Given the description of an element on the screen output the (x, y) to click on. 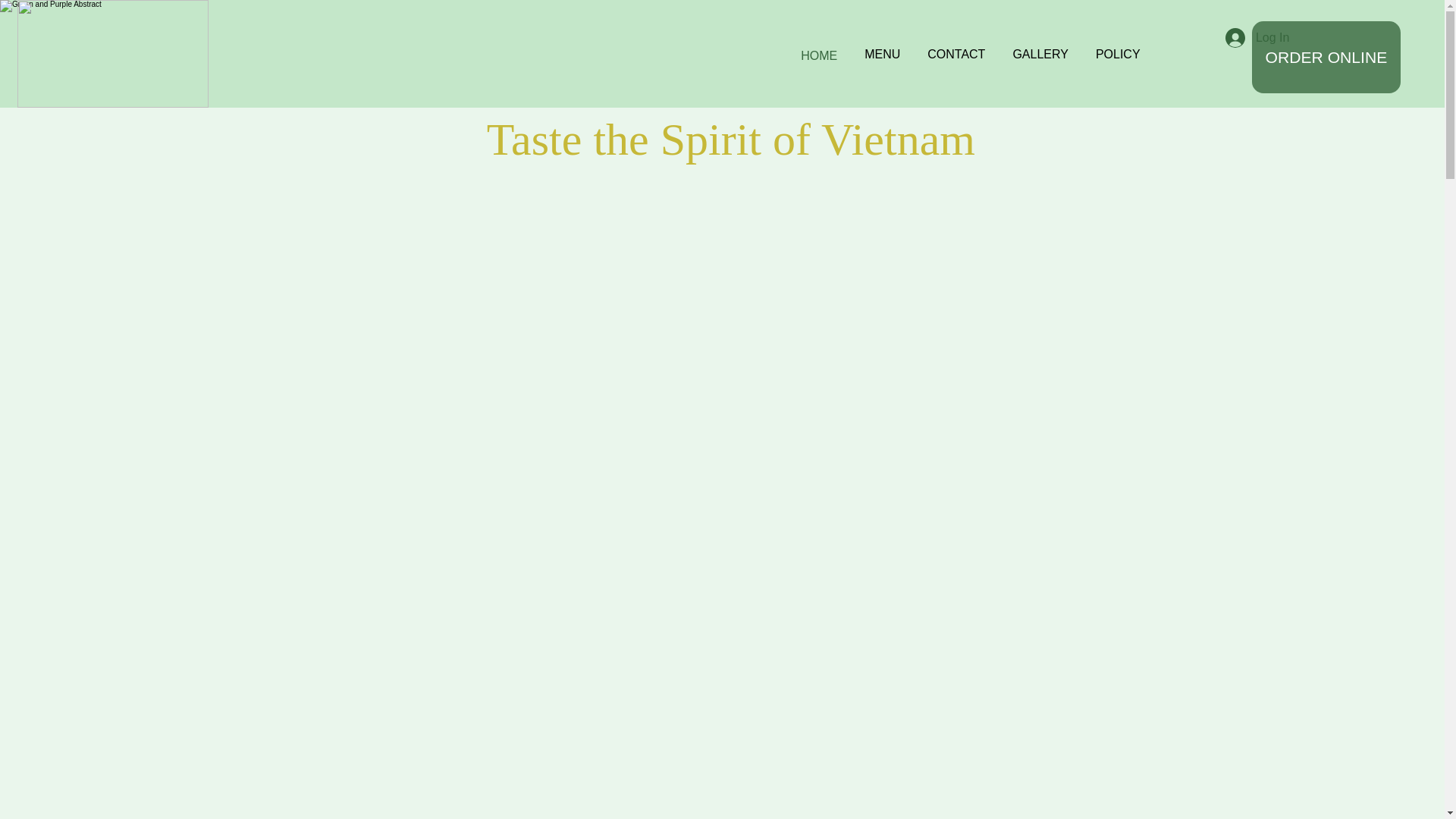
CONTACT (956, 55)
Log In (1257, 37)
ORDER ONLINE (1326, 57)
HOME (818, 56)
GALLERY (1039, 55)
POLICY (1117, 55)
MENU (882, 55)
